Given the description of an element on the screen output the (x, y) to click on. 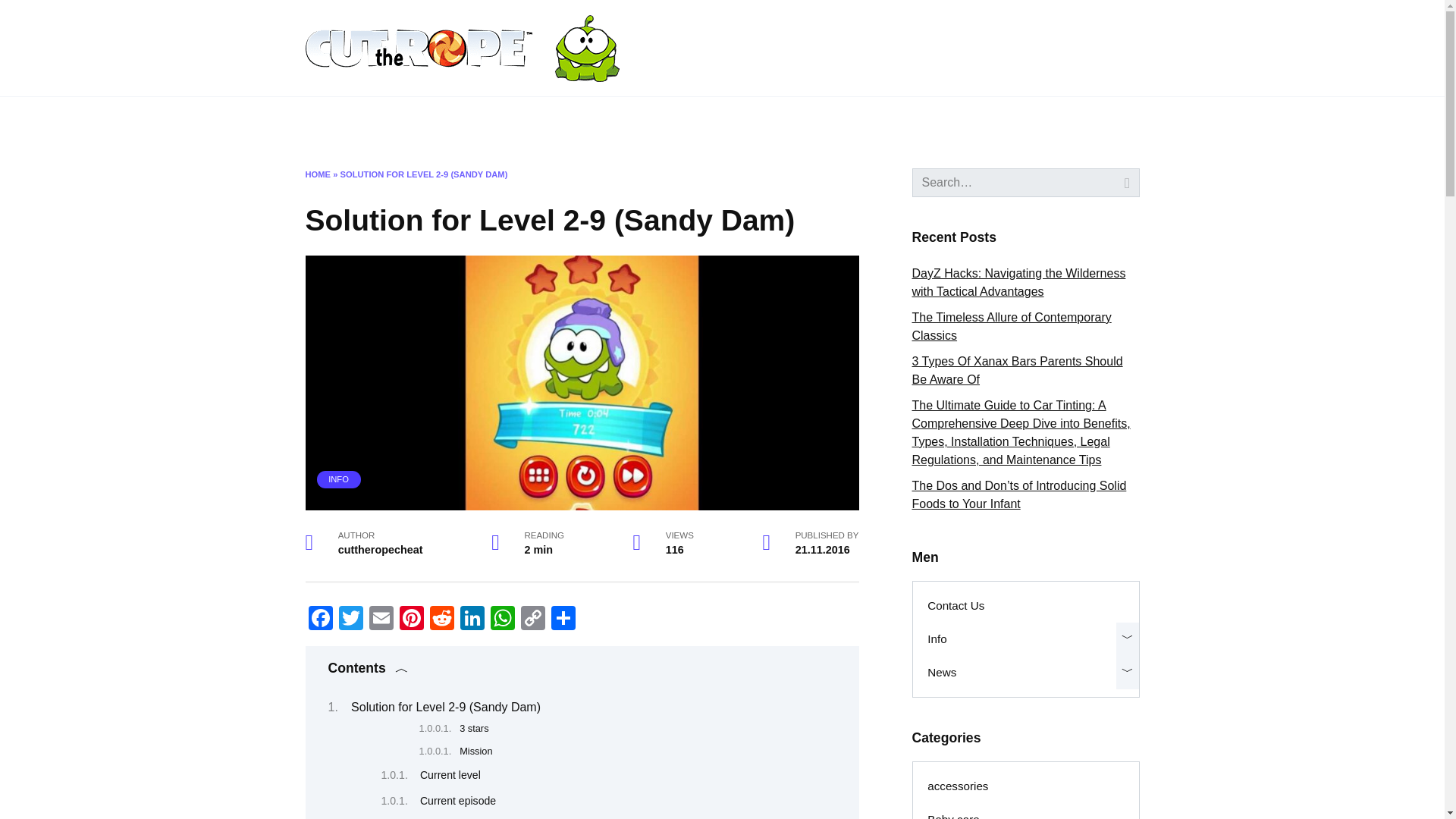
Current level (450, 775)
HOME (317, 174)
Copy Link (531, 619)
LinkedIn (471, 619)
LinkedIn (471, 619)
Info (415, 121)
WhatsApp (501, 619)
Reddit (441, 619)
Pinterest (411, 619)
Email (380, 619)
Mission (476, 750)
INFO (339, 479)
Twitter (349, 619)
Twitter (349, 619)
WhatsApp (501, 619)
